Given the description of an element on the screen output the (x, y) to click on. 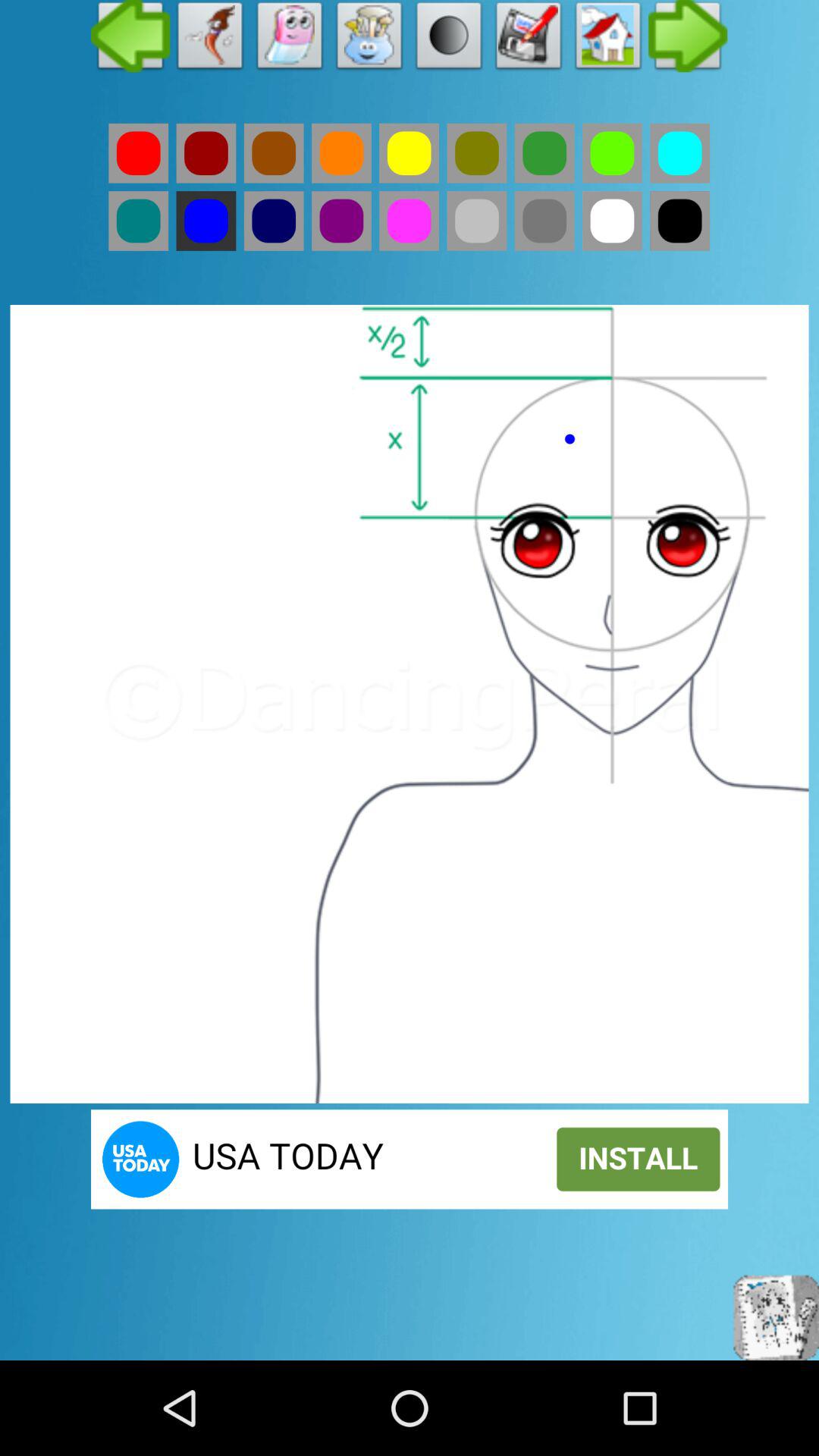
colour option (341, 153)
